Given the description of an element on the screen output the (x, y) to click on. 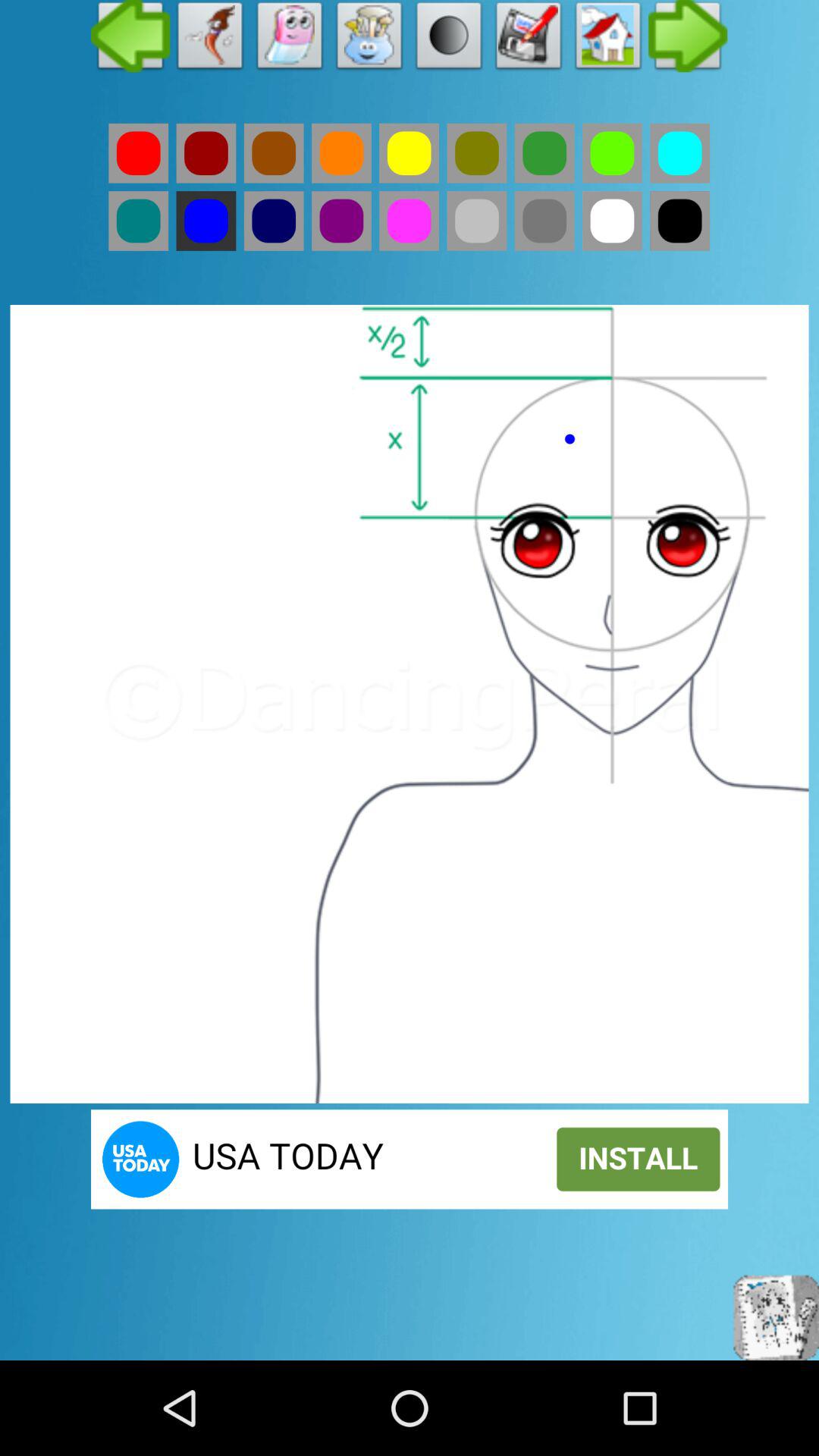
colour option (341, 153)
